Given the description of an element on the screen output the (x, y) to click on. 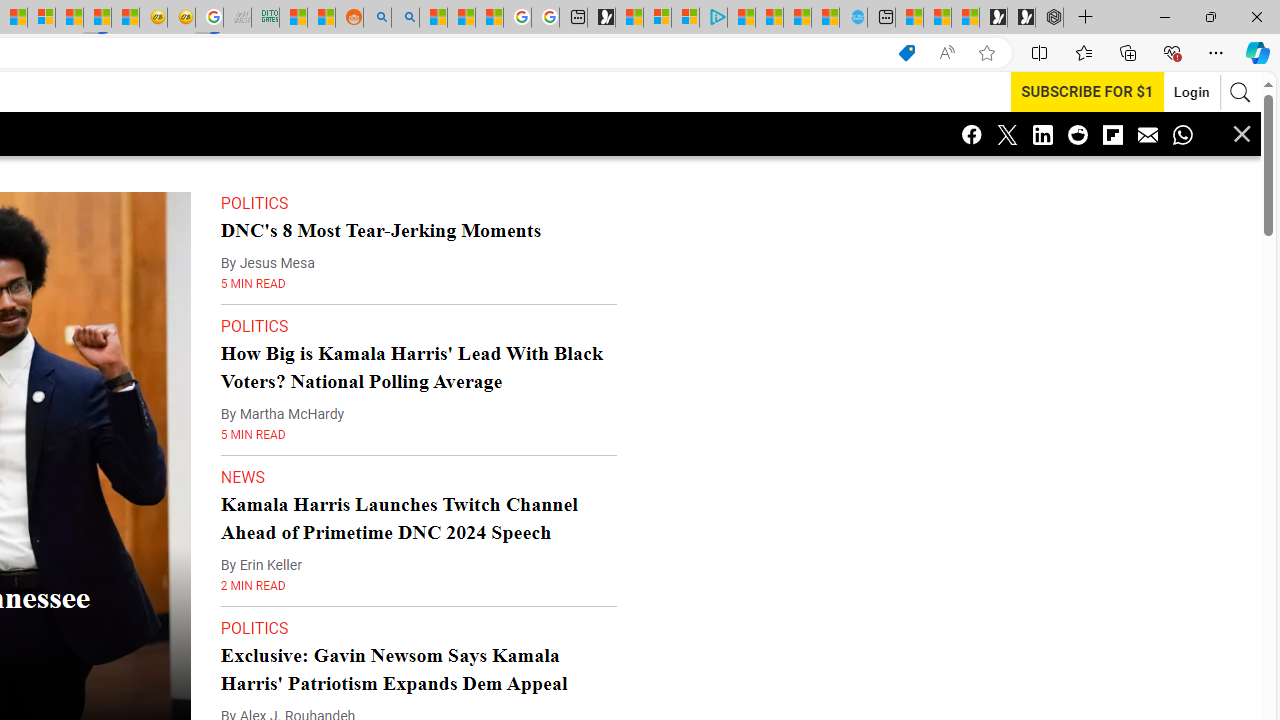
AutomationID: search-btn (1240, 92)
By Martha McHardy (282, 414)
Navy Quest (237, 17)
Home | Sky Blue Bikes - Sky Blue Bikes (852, 17)
Play Free Online Games | Games from Microsoft Start (1021, 17)
Shopping in Microsoft Edge (906, 53)
Class: icon-whatsapp (1182, 133)
